Given the description of an element on the screen output the (x, y) to click on. 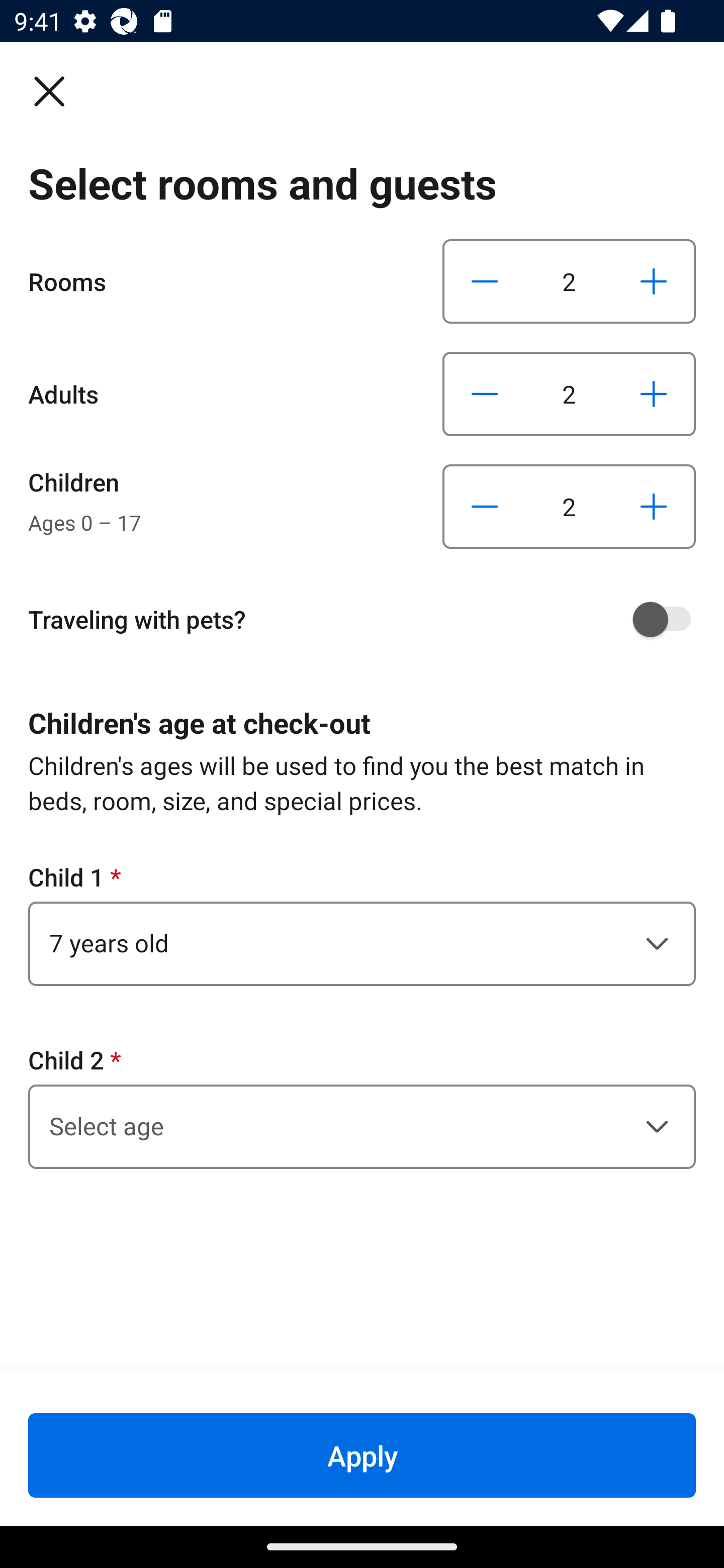
Decrease (484, 281)
Increase (653, 281)
Decrease (484, 393)
Increase (653, 393)
Decrease (484, 506)
Increase (653, 506)
Traveling with pets? (369, 619)
Child 1
required Child 1 * 7 years old (361, 922)
Child 2
required Child 2 * Select age (361, 1105)
Apply (361, 1454)
